Given the description of an element on the screen output the (x, y) to click on. 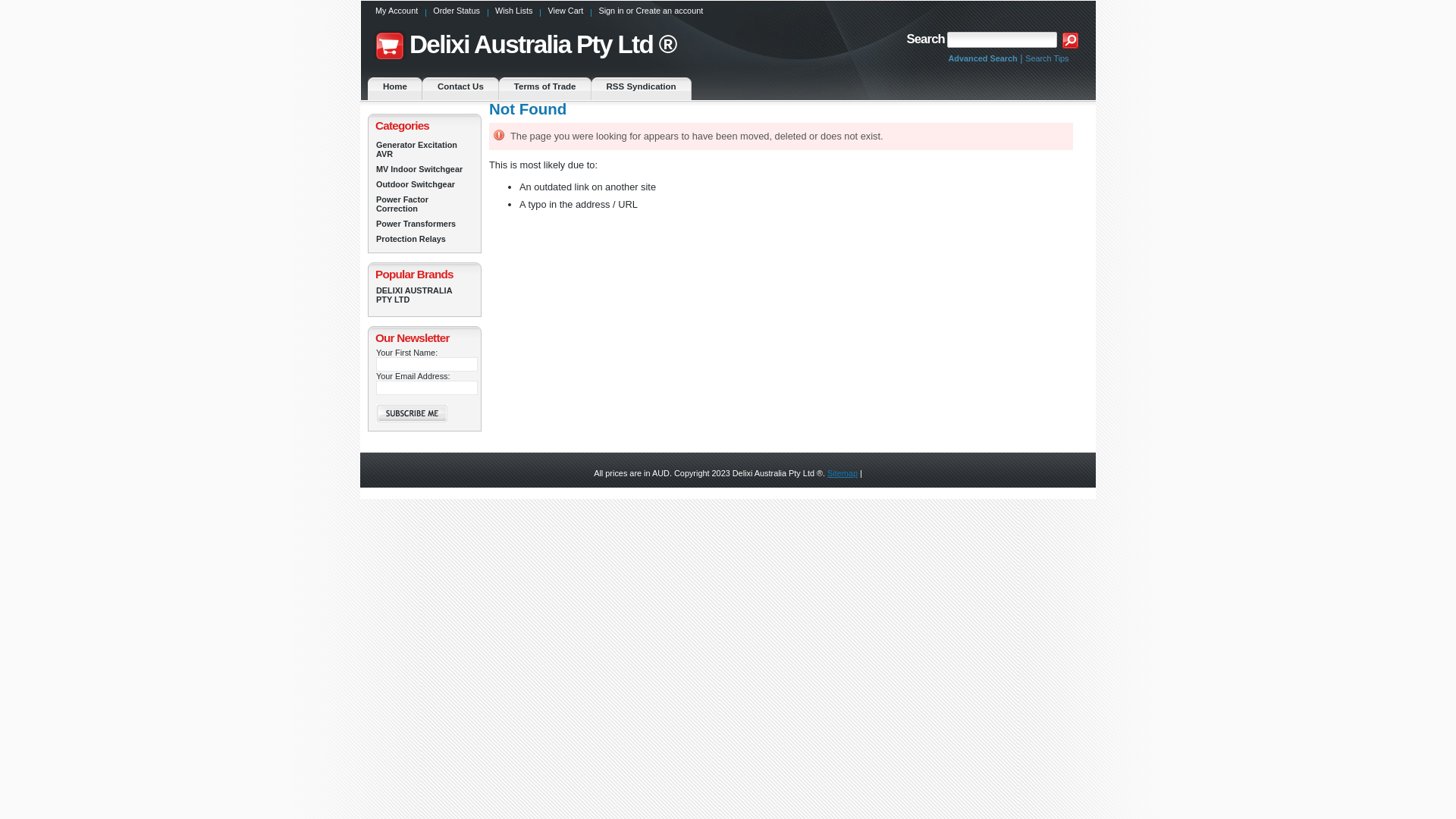
Wish Lists Element type: text (513, 14)
Advanced Search Element type: text (981, 57)
Contact Us Element type: text (460, 88)
Create an account Element type: text (668, 10)
My Account Element type: text (396, 14)
Sitemap Element type: text (842, 472)
Terms of Trade Element type: text (544, 88)
Outdoor Switchgear Element type: text (424, 184)
RSS Syndication Element type: text (641, 88)
MV Indoor Switchgear Element type: text (424, 169)
Power Transformers Element type: text (424, 223)
Home Element type: text (394, 88)
Search Tips Element type: text (1046, 57)
Generator Excitation AVR Element type: text (424, 149)
Power Factor Correction Element type: text (424, 203)
Protection Relays Element type: text (424, 238)
Order Status Element type: text (456, 14)
Sign in Element type: text (610, 10)
View Cart Element type: text (564, 14)
DELIXI AUSTRALIA PTY LTD Element type: text (424, 294)
